Given the description of an element on the screen output the (x, y) to click on. 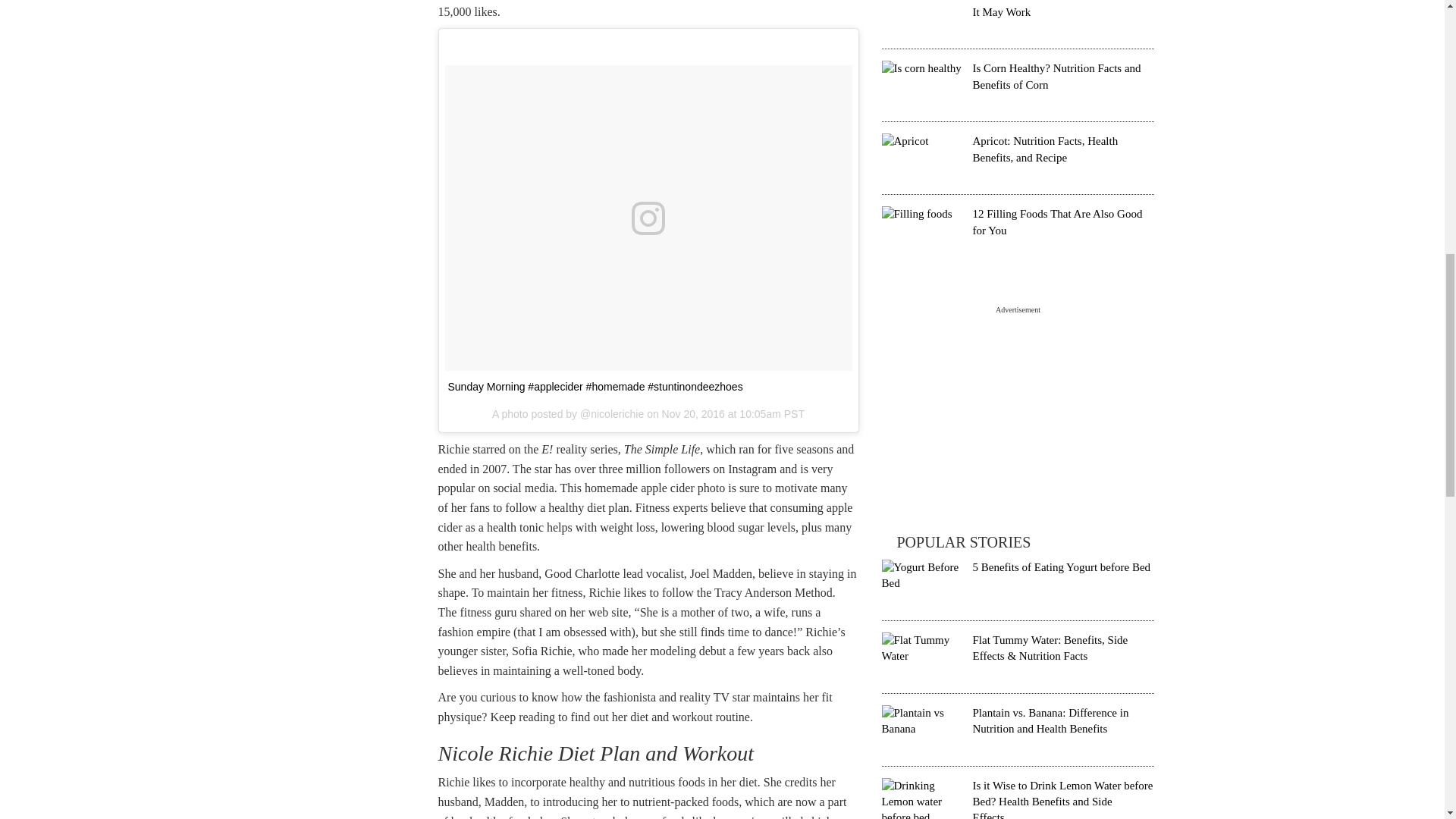
Is Corn Healthy? Nutrition Facts and Benefits of Corn (1056, 76)
